Given the description of an element on the screen output the (x, y) to click on. 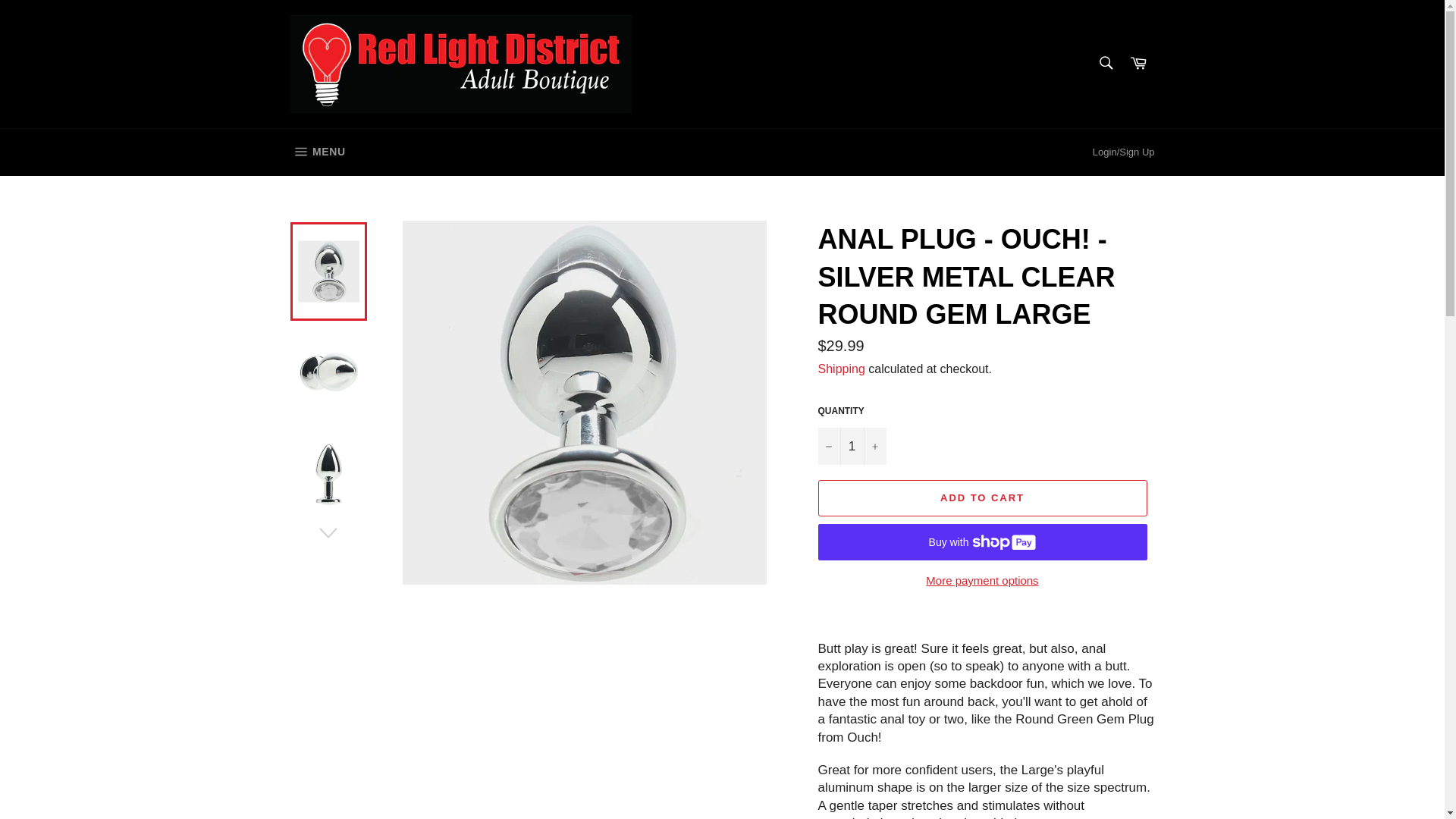
1 (850, 446)
